Given the description of an element on the screen output the (x, y) to click on. 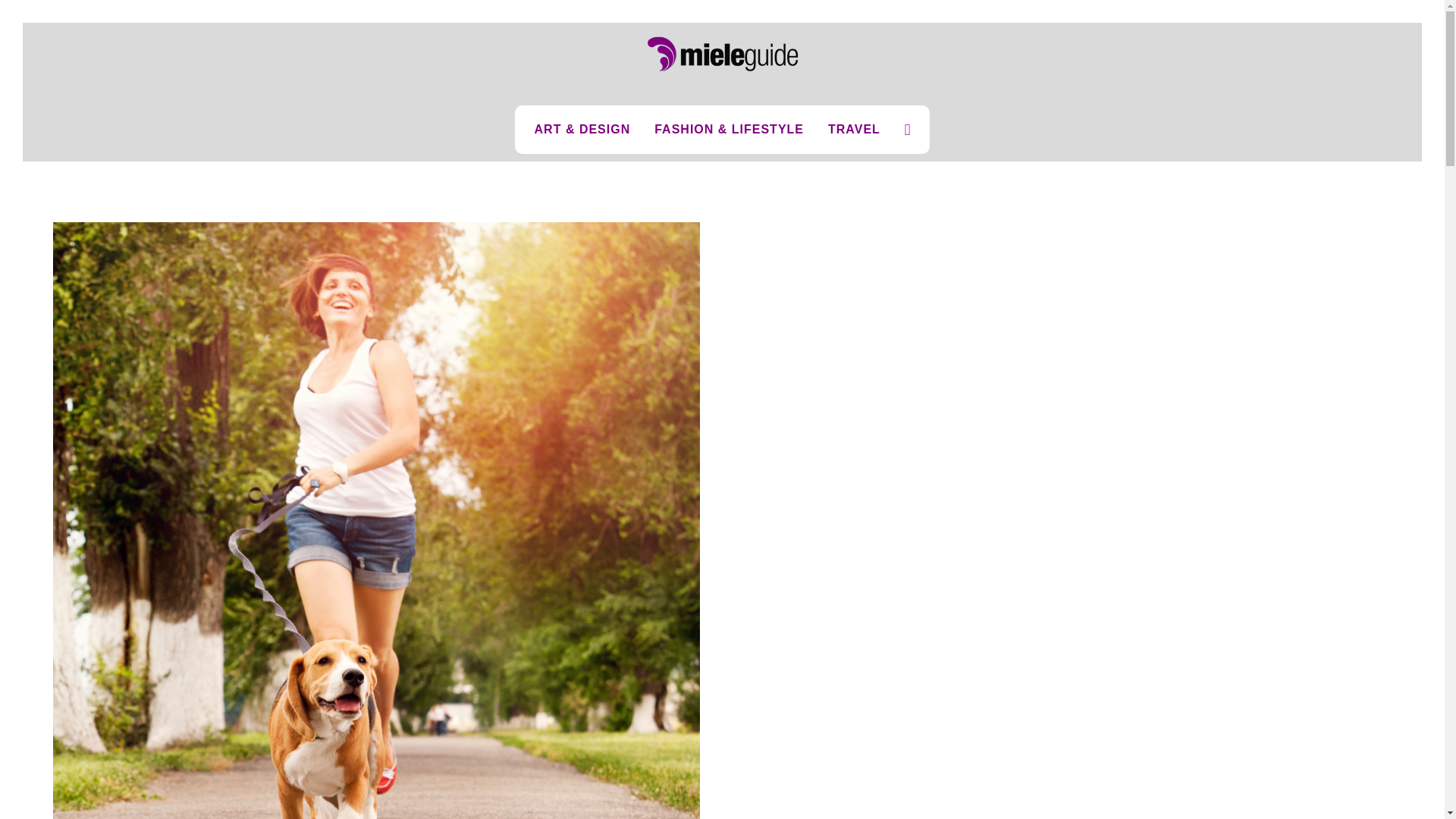
TRAVEL (853, 129)
